Given the description of an element on the screen output the (x, y) to click on. 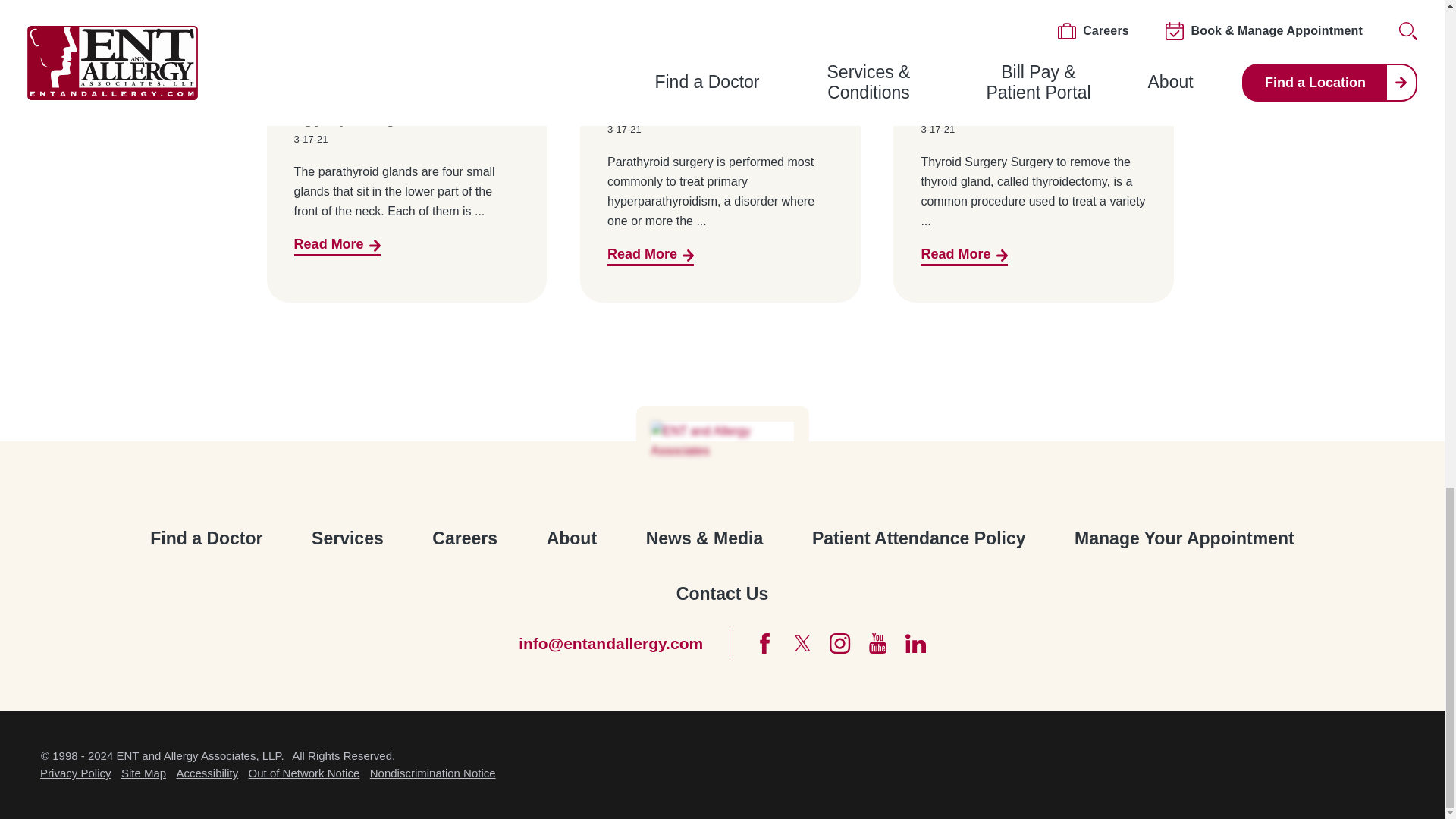
Instagram (839, 643)
LinkedIn (915, 643)
Read More (650, 255)
Read More (337, 245)
ENT and Allergy Associates (721, 441)
YouTube (877, 643)
Facebook (764, 643)
Twitter (802, 643)
